Given the description of an element on the screen output the (x, y) to click on. 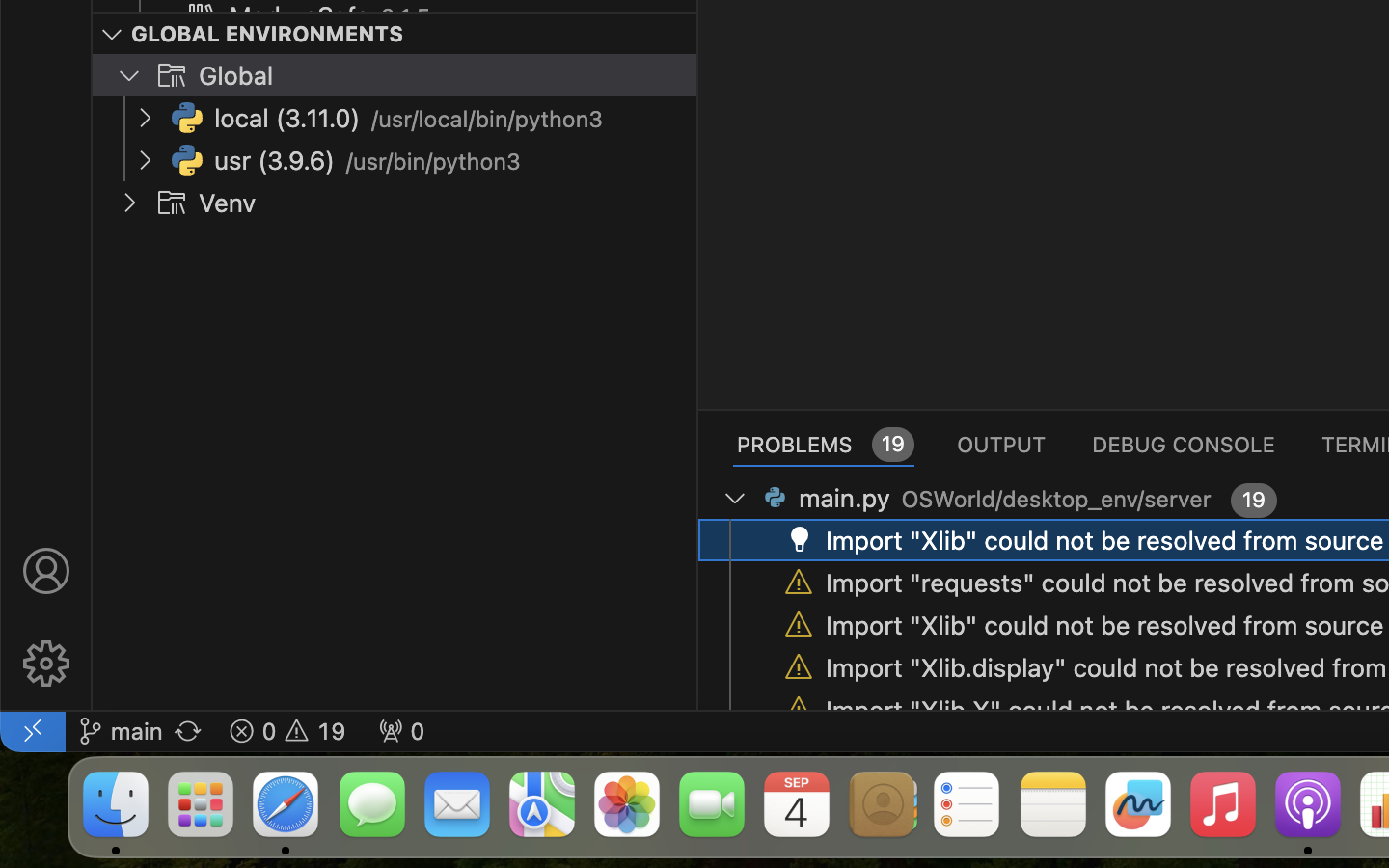
1 PROBLEMS 19 Element type: AXRadioButton (824, 443)
19  0  Element type: AXButton (286, 730)
 Element type: AXGroup (46, 570)
19 Element type: AXStaticText (1254, 500)
 Element type: AXStaticText (798, 624)
